Given the description of an element on the screen output the (x, y) to click on. 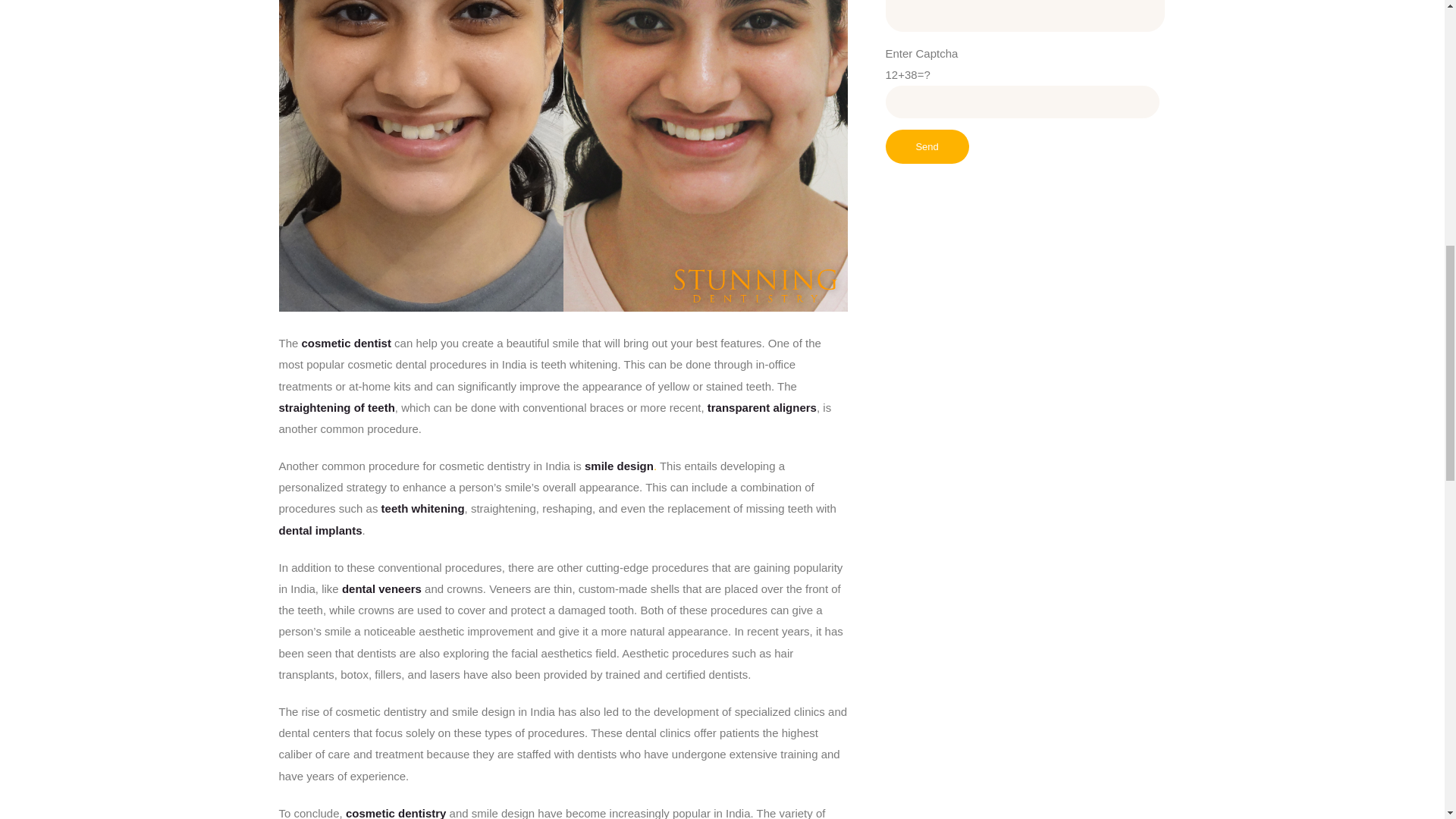
straightening of teeth (336, 407)
dental implants (320, 530)
teeth whitening (422, 508)
smile design. (620, 465)
Send (927, 146)
cosmetic dentist (346, 342)
dental veneers (382, 588)
